Given the description of an element on the screen output the (x, y) to click on. 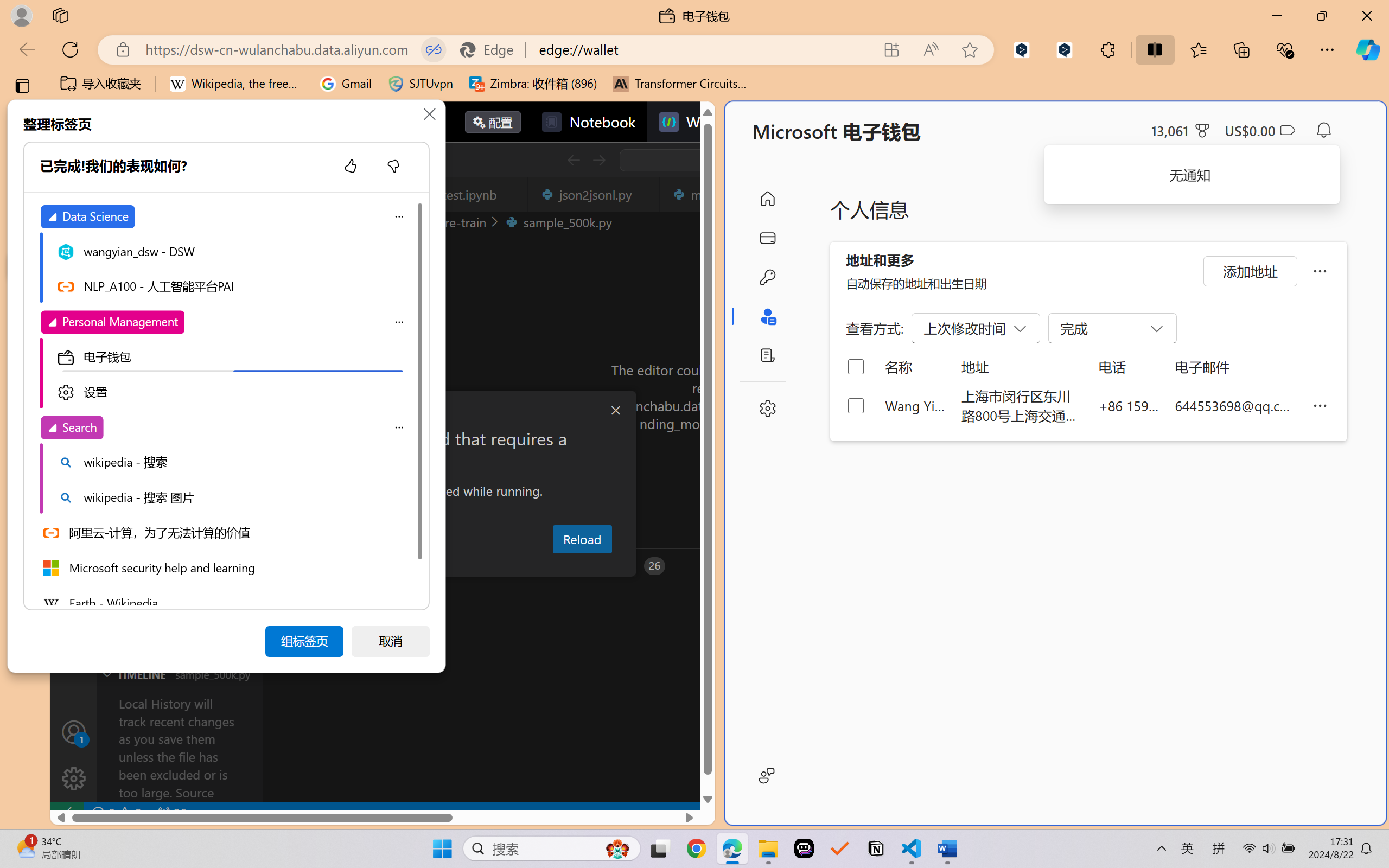
Class: actions-container (717, 159)
Ports - 26 forwarded ports (632, 565)
+86 159 0032 4640 (1128, 405)
Microsoft Cashback - US$0.00 (1259, 129)
Go Back (Alt+LeftArrow) (573, 159)
